Given the description of an element on the screen output the (x, y) to click on. 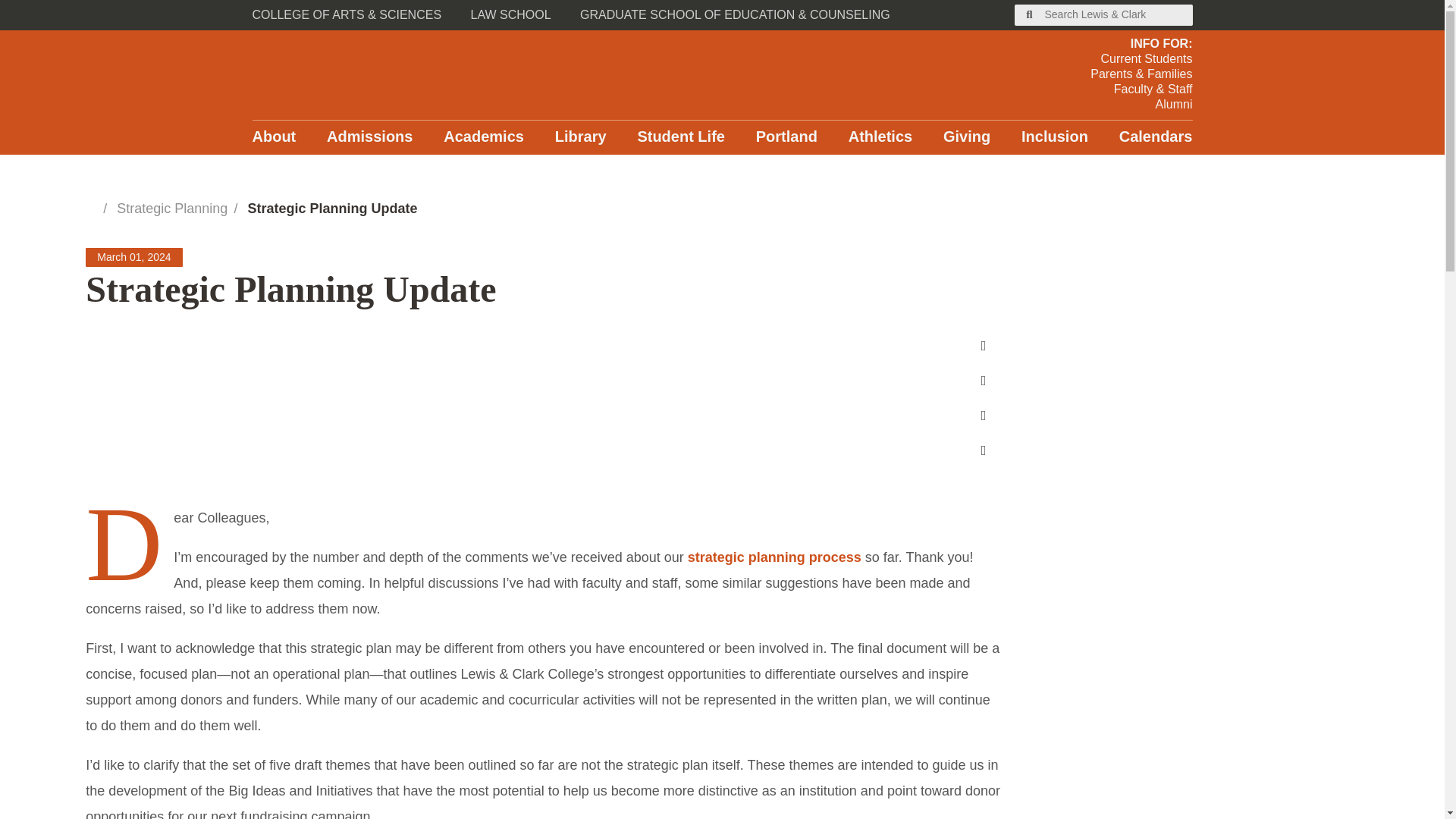
Student Life (681, 137)
strategic planning process (774, 557)
Library (580, 137)
Portland (785, 137)
Athletics (880, 137)
Share on Facebook (983, 345)
Alumni (1141, 104)
Share via email (983, 450)
Academics (484, 137)
Inclusion (1054, 137)
Home (91, 207)
Admissions (369, 137)
Current Students (1141, 58)
Submit Search (1029, 14)
Lewis and Clark (401, 74)
